Given the description of an element on the screen output the (x, y) to click on. 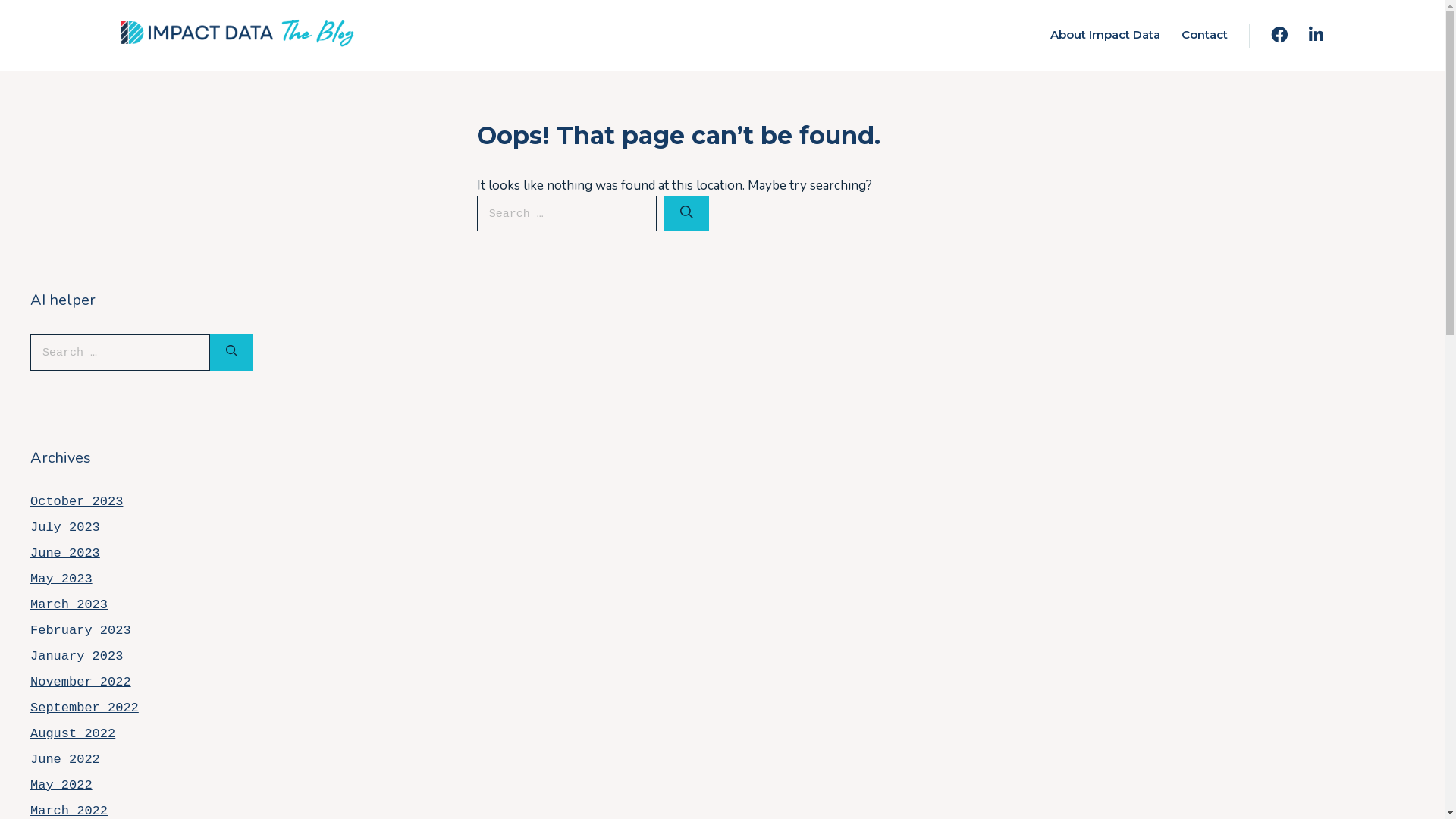
May 2022 Element type: text (61, 785)
Search for: Element type: hover (566, 213)
September 2022 Element type: text (84, 707)
May 2023 Element type: text (61, 578)
November 2022 Element type: text (80, 681)
Contact Element type: text (1204, 34)
February 2023 Element type: text (80, 630)
August 2022 Element type: text (72, 733)
October 2023 Element type: text (76, 501)
March 2022 Element type: text (68, 810)
About Impact Data Element type: text (1105, 34)
July 2023 Element type: text (65, 527)
March 2023 Element type: text (68, 604)
June 2023 Element type: text (65, 553)
January 2023 Element type: text (76, 656)
June 2022 Element type: text (65, 759)
Search for: Element type: hover (120, 352)
